Given the description of an element on the screen output the (x, y) to click on. 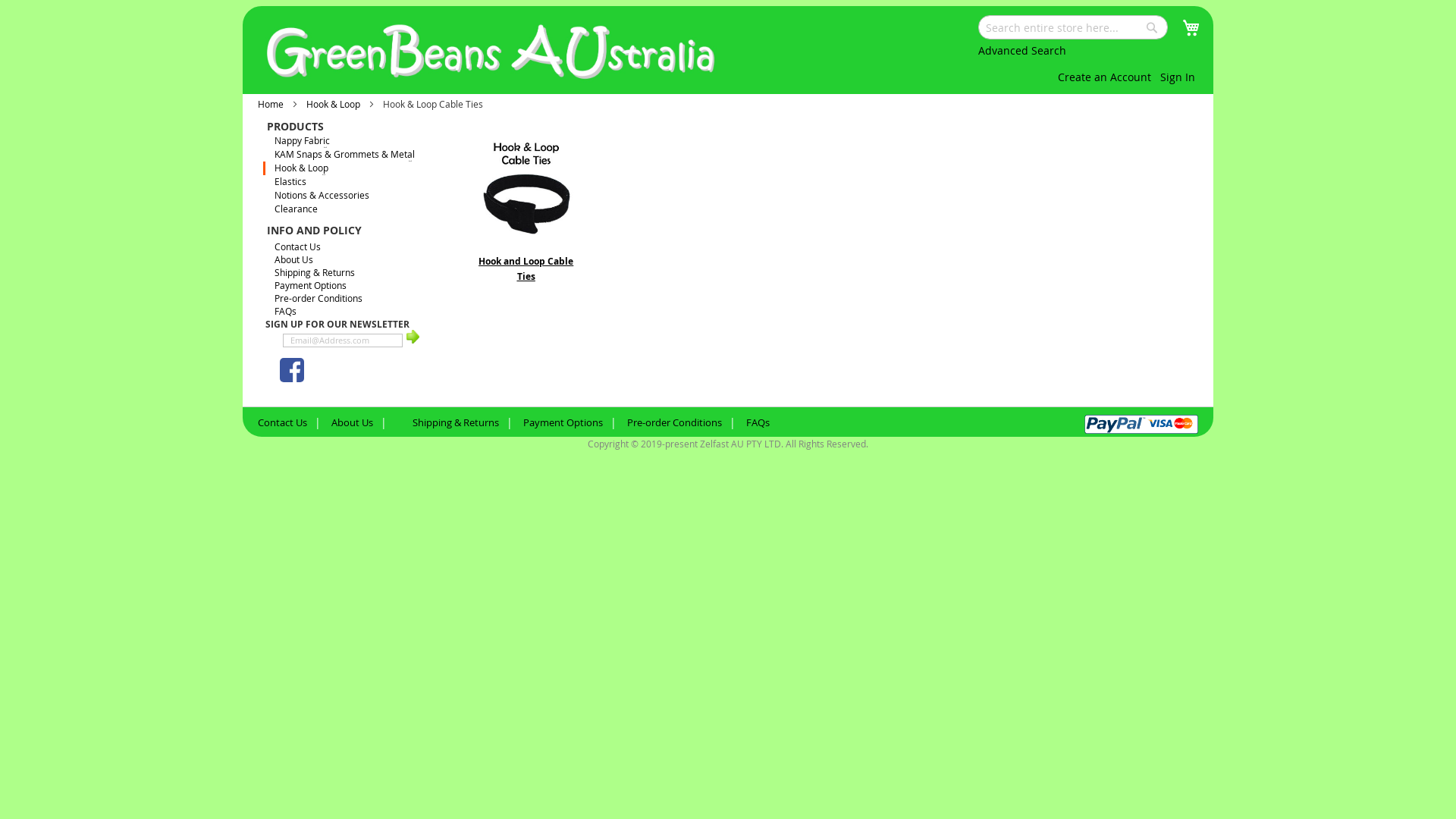
Pre-order Conditions Element type: text (674, 425)
Hook and Loop Cable Ties Element type: text (525, 268)
Clearance Element type: text (291, 212)
Payment Options Element type: text (562, 425)
GreenBeans Facebook Element type: hover (291, 369)
About Us Element type: text (293, 259)
FAQs Element type: text (285, 310)
Nappy Fabric Element type: text (297, 143)
KAM Snaps & Grommets & Metal Element type: text (339, 157)
Payment Options Element type: text (310, 285)
Search Element type: text (1151, 27)
Hook & Loop Element type: text (296, 171)
Contact Us Element type: text (282, 425)
Advanced Search Element type: text (1022, 50)
Sign In Element type: text (1179, 76)
My Cart Element type: text (1190, 27)
Hook & Loop Element type: text (334, 103)
Shipping & Returns Element type: text (455, 425)
FAQs Element type: text (757, 425)
Notions & Accessories Element type: text (317, 198)
Contact Us Element type: text (297, 246)
Pre-order Conditions Element type: text (318, 297)
About Us Element type: text (351, 425)
Shipping & Returns Element type: text (314, 272)
Home Element type: text (271, 103)
Create an Account Element type: text (1104, 76)
Elastics Element type: text (285, 184)
